Given the description of an element on the screen output the (x, y) to click on. 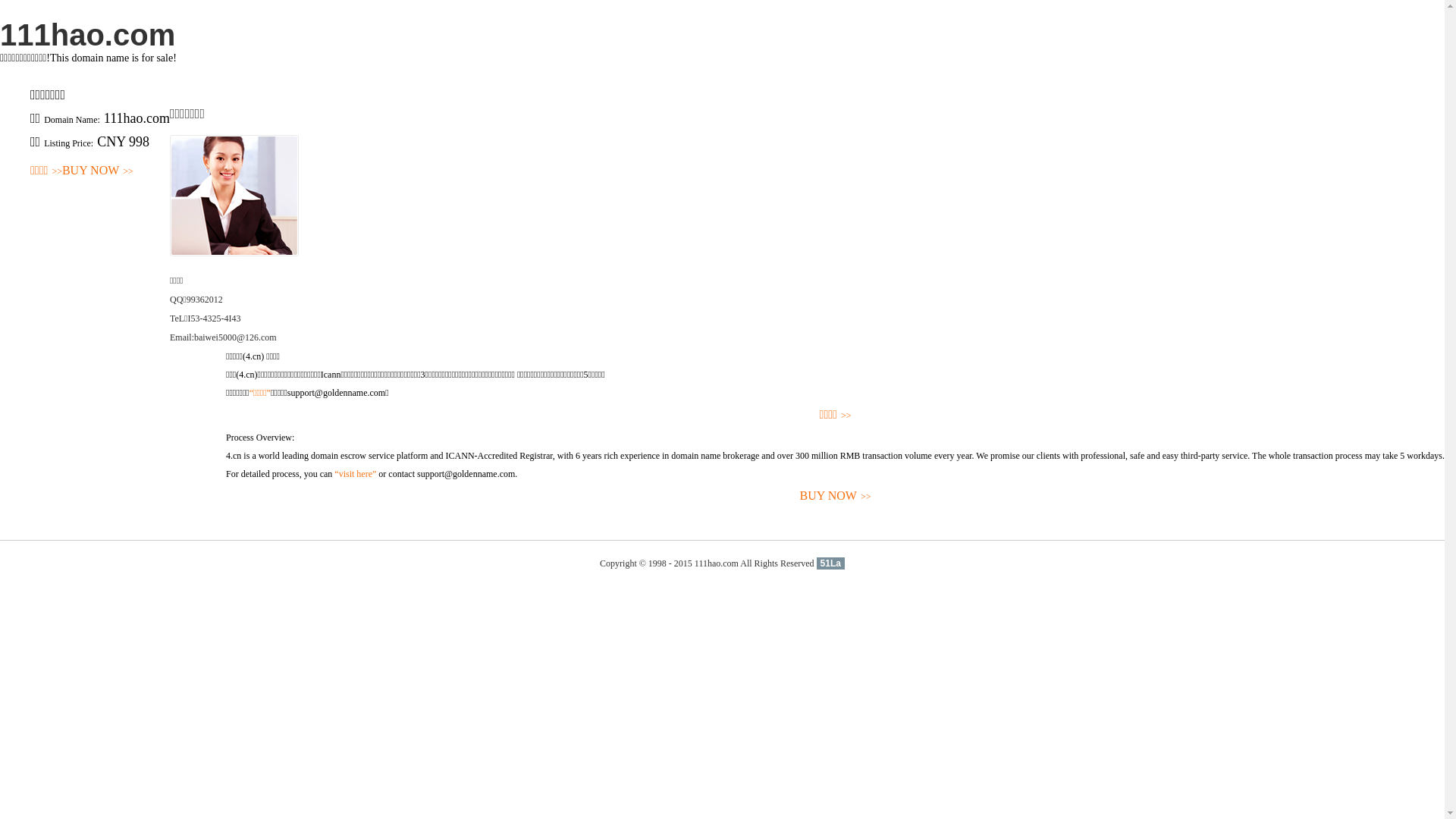
BUY NOW>> Element type: text (97, 170)
BUY NOW>> Element type: text (834, 496)
51La Element type: text (830, 563)
